Given the description of an element on the screen output the (x, y) to click on. 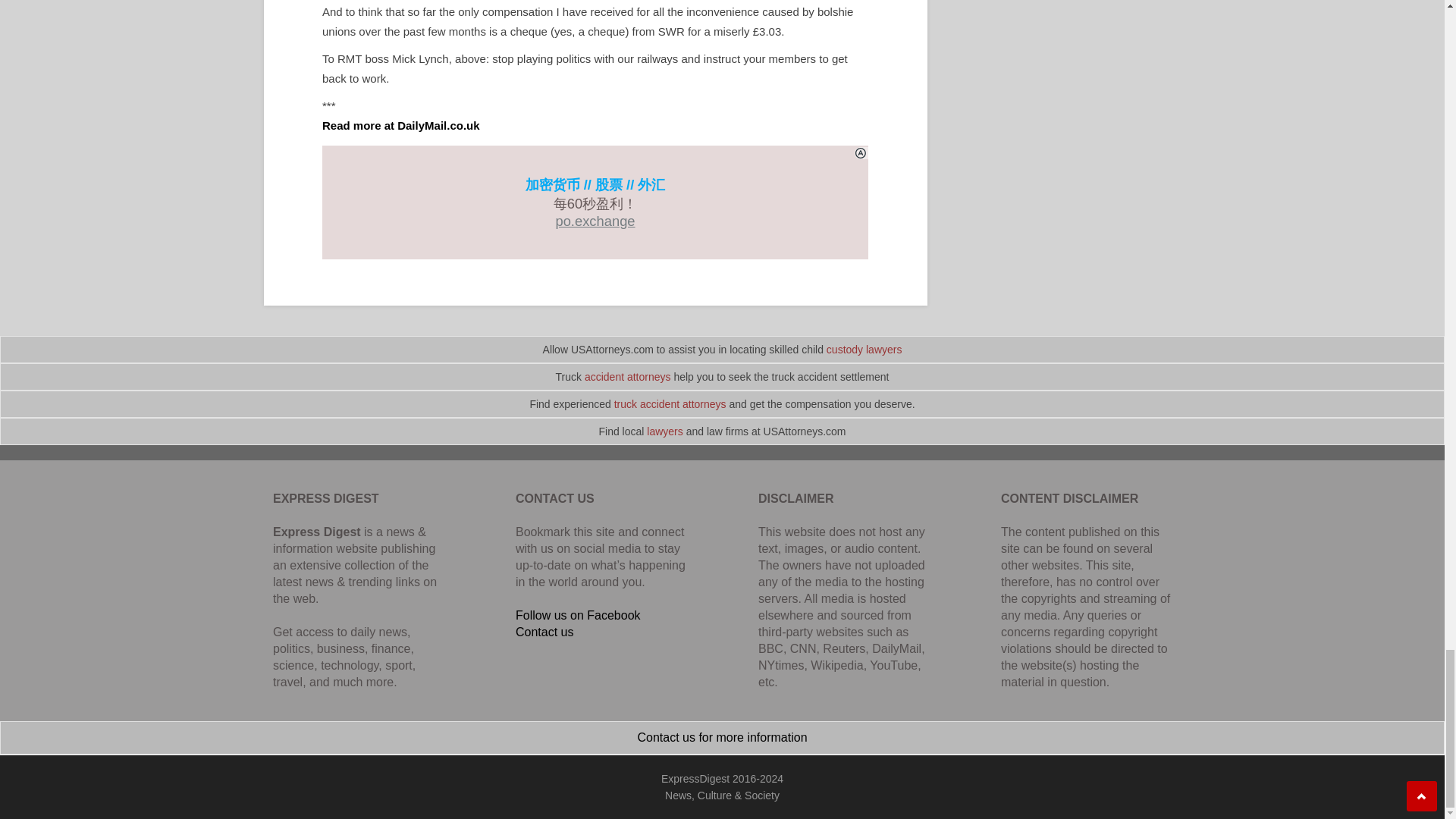
custody lawyers (864, 349)
truck accident attorneys (670, 404)
Read more at DailyMail.co.uk (400, 124)
accident attorneys (628, 377)
lawyers (664, 431)
